Given the description of an element on the screen output the (x, y) to click on. 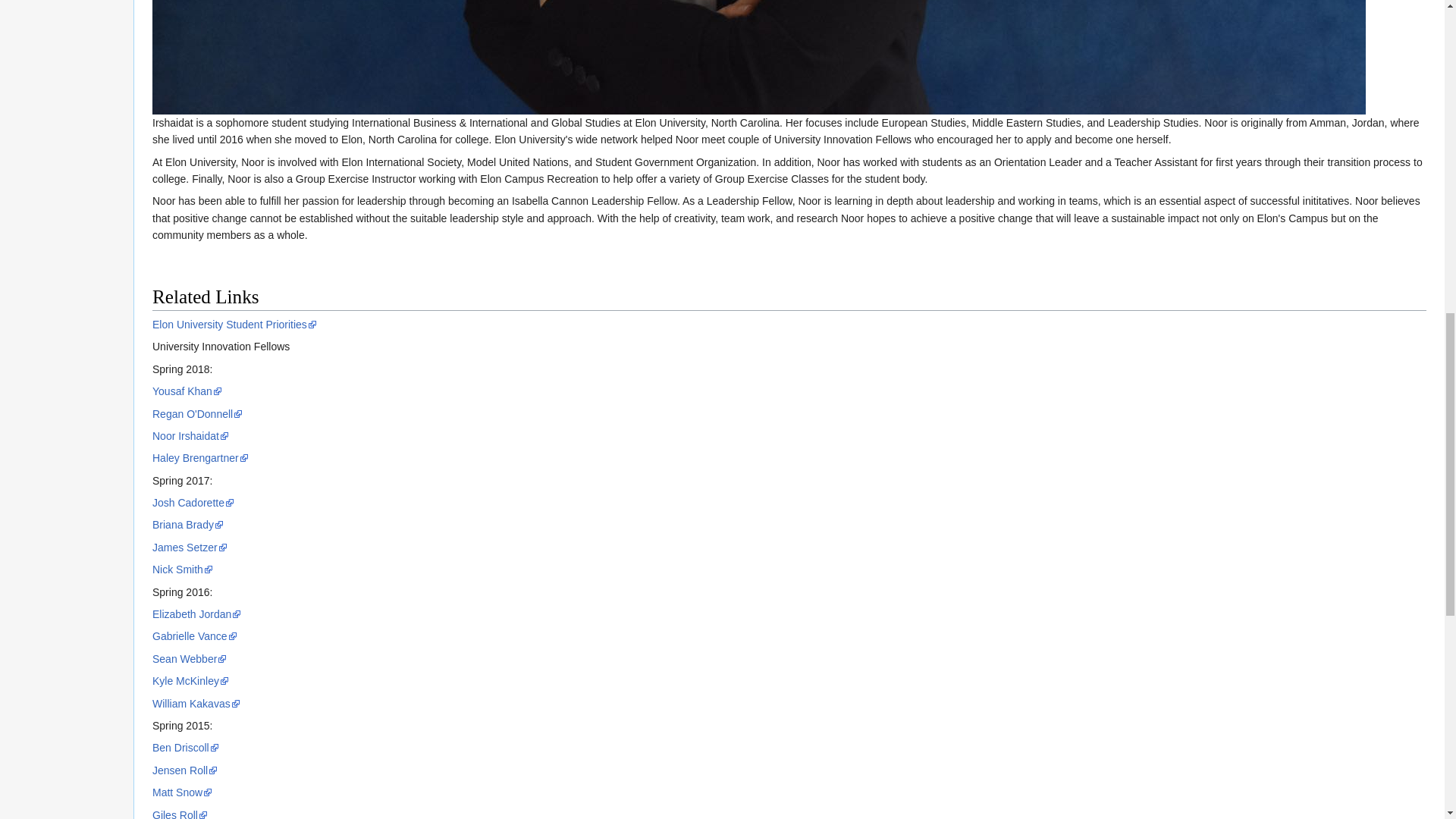
Elizabeth Jordan (196, 613)
Briana Brady (188, 524)
Sean Webber (189, 658)
Kyle McKinley (190, 680)
Gabrielle Vance (194, 635)
Haley Brengartner (200, 458)
Ben Driscoll (185, 747)
Yousaf Khan (187, 390)
Josh Cadorette (193, 502)
Regan O'Donnell (197, 413)
